Given the description of an element on the screen output the (x, y) to click on. 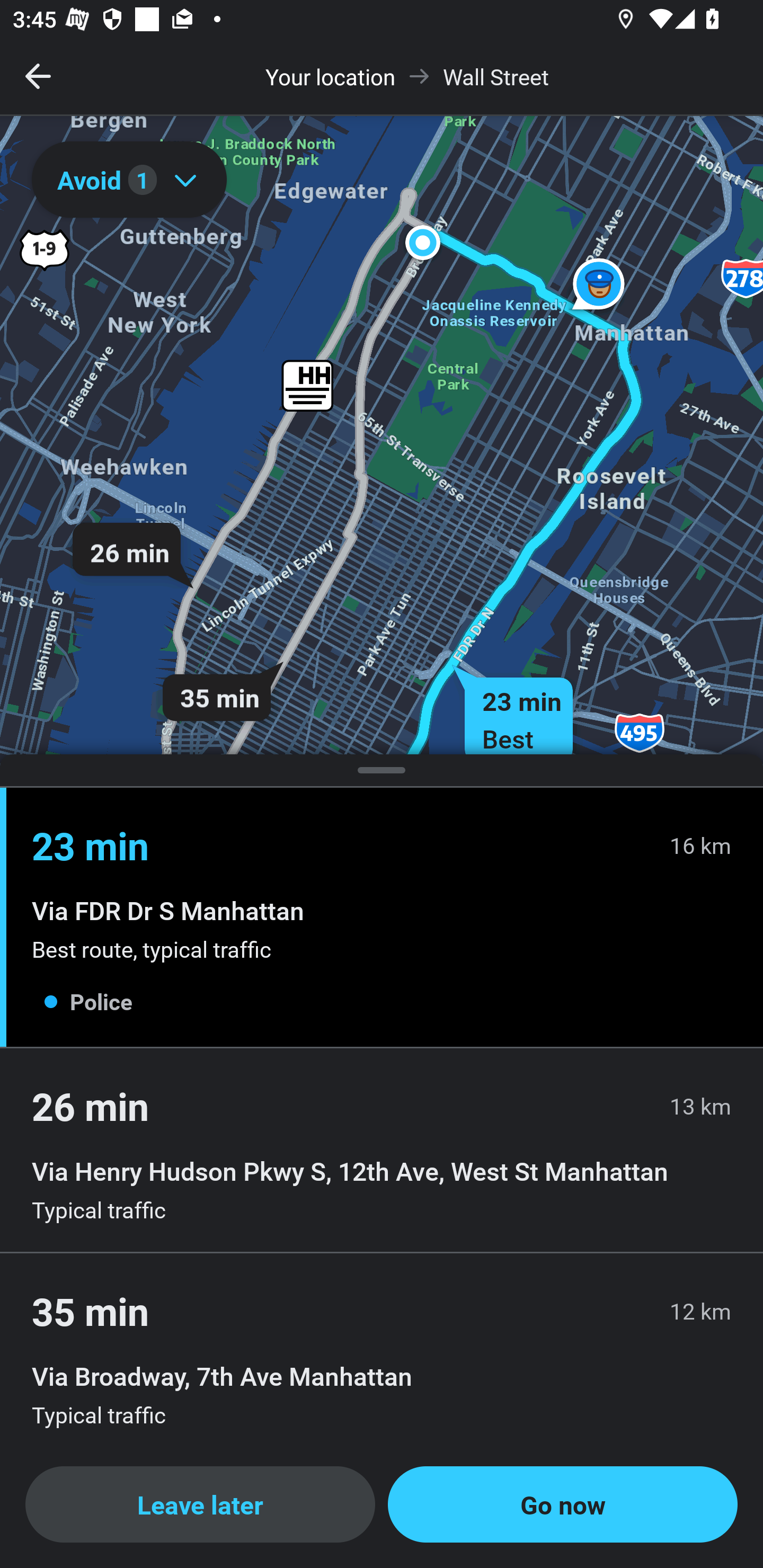
Leave later (200, 1504)
Go now (562, 1504)
